Given the description of an element on the screen output the (x, y) to click on. 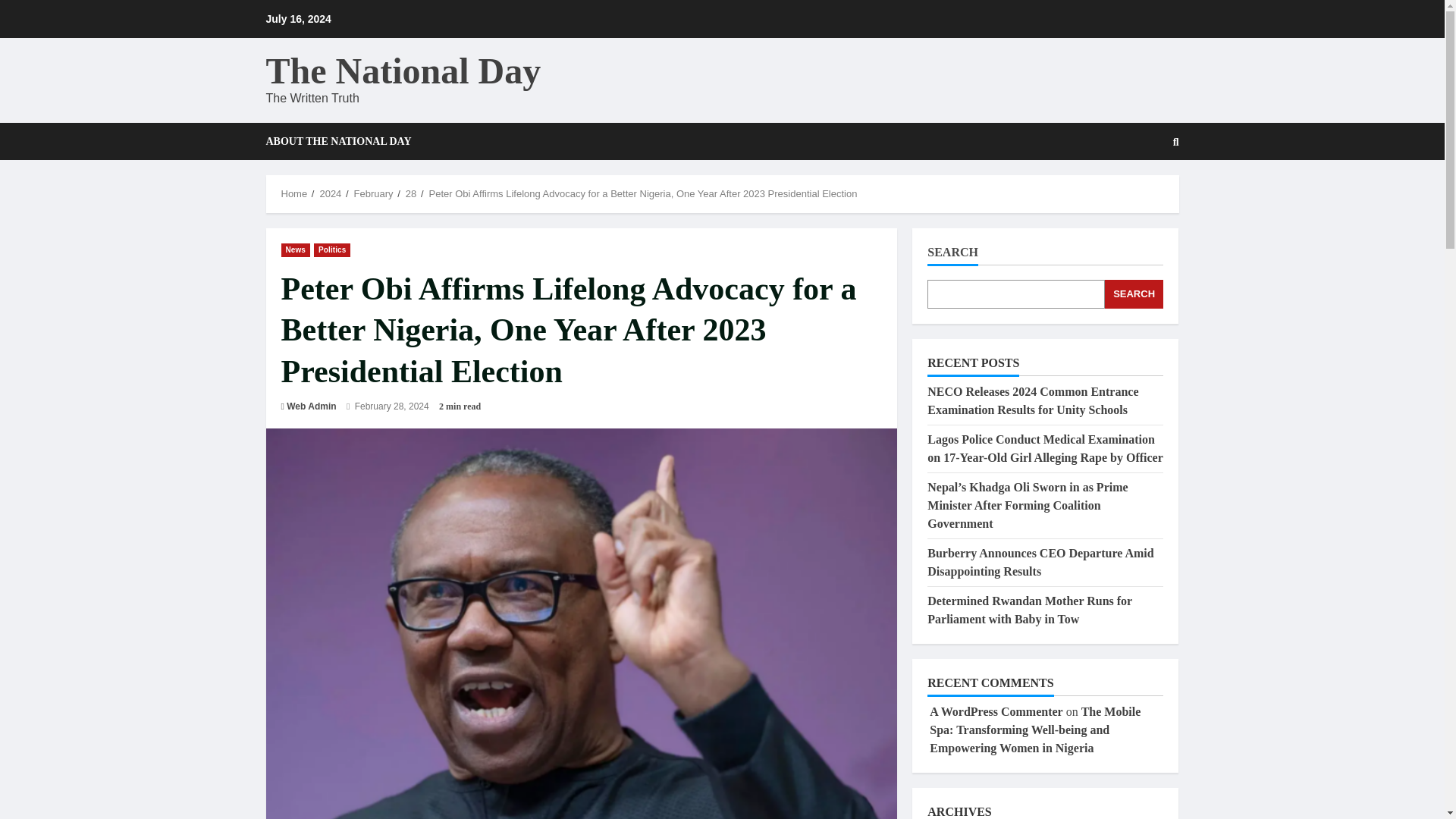
Search (1139, 193)
2024 (329, 193)
ABOUT THE NATIONAL DAY (337, 140)
Web Admin (311, 406)
Politics (332, 249)
The National Day (402, 70)
SEARCH (1134, 294)
Burberry Announces CEO Departure Amid Disappointing Results (1040, 562)
A WordPress Commenter (996, 711)
Home (294, 193)
News (295, 249)
